Given the description of an element on the screen output the (x, y) to click on. 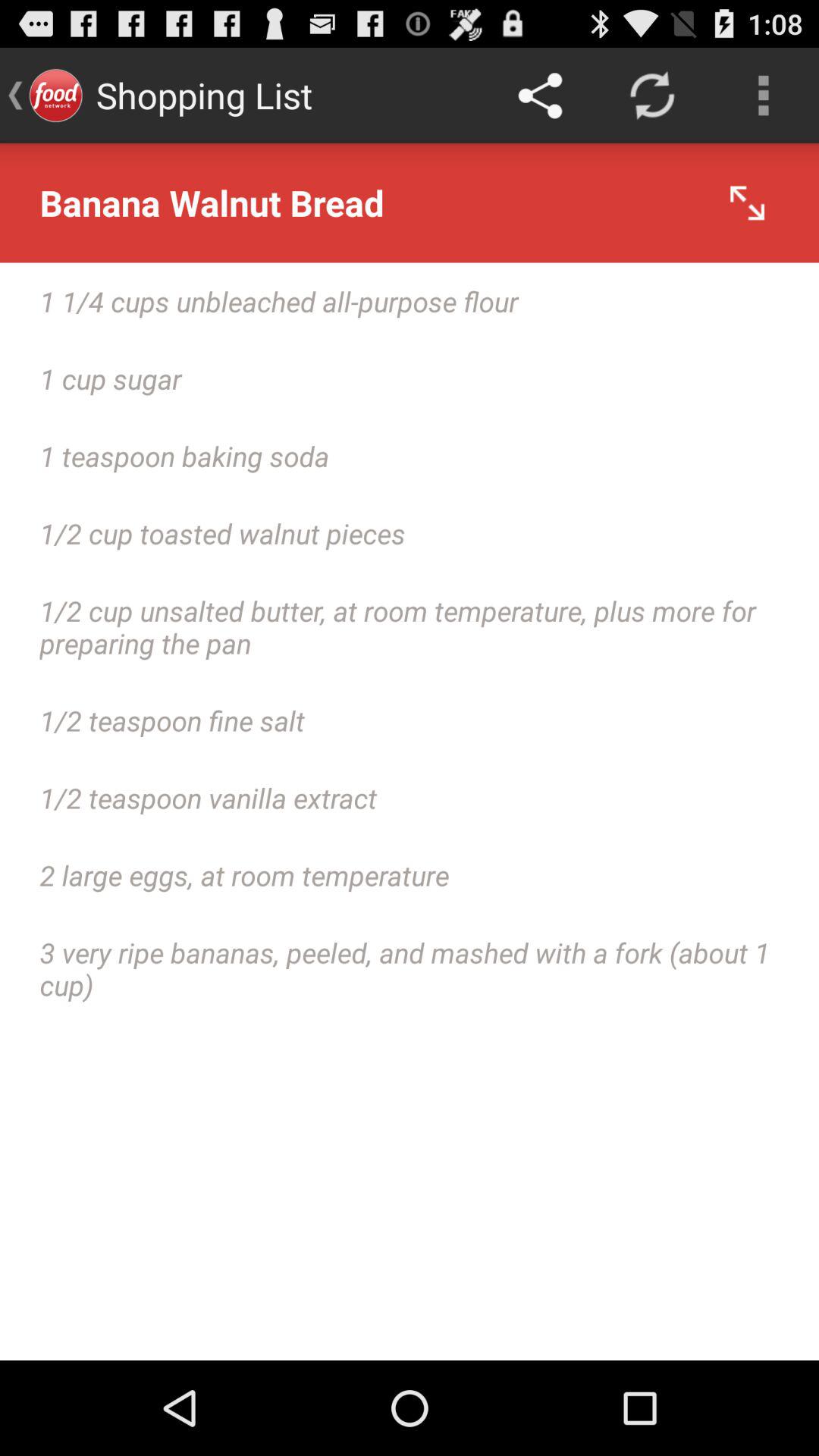
click app above the banana walnut bread (651, 95)
